Given the description of an element on the screen output the (x, y) to click on. 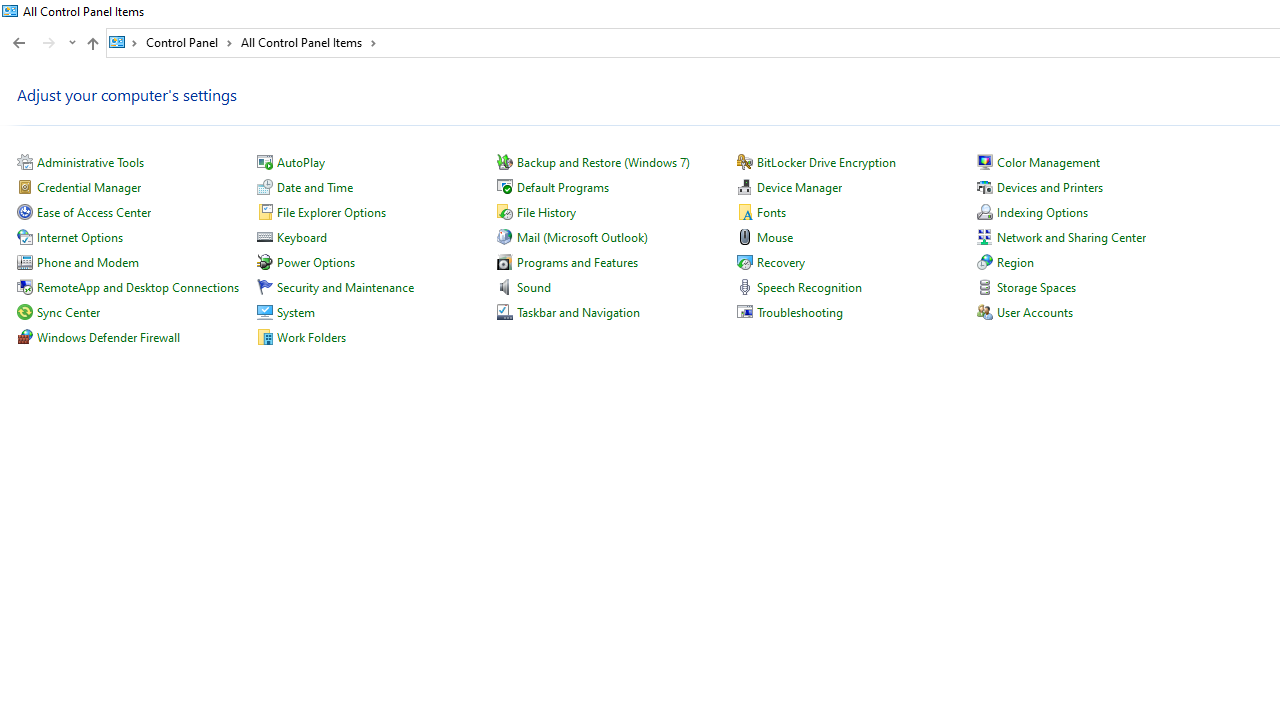
Recovery (780, 262)
AutoPlay (300, 161)
Up to "Control Panel" (Alt + Up Arrow) (92, 43)
File Explorer Options (331, 212)
BitLocker Drive Encryption (826, 161)
Speech Recognition (809, 287)
User Accounts (1034, 312)
Administrative Tools (89, 161)
Credential Manager (88, 187)
Mouse (774, 236)
Navigation buttons (41, 43)
Color Management (1048, 161)
Device Manager (799, 187)
Internet Options (79, 236)
Phone and Modem (87, 262)
